Given the description of an element on the screen output the (x, y) to click on. 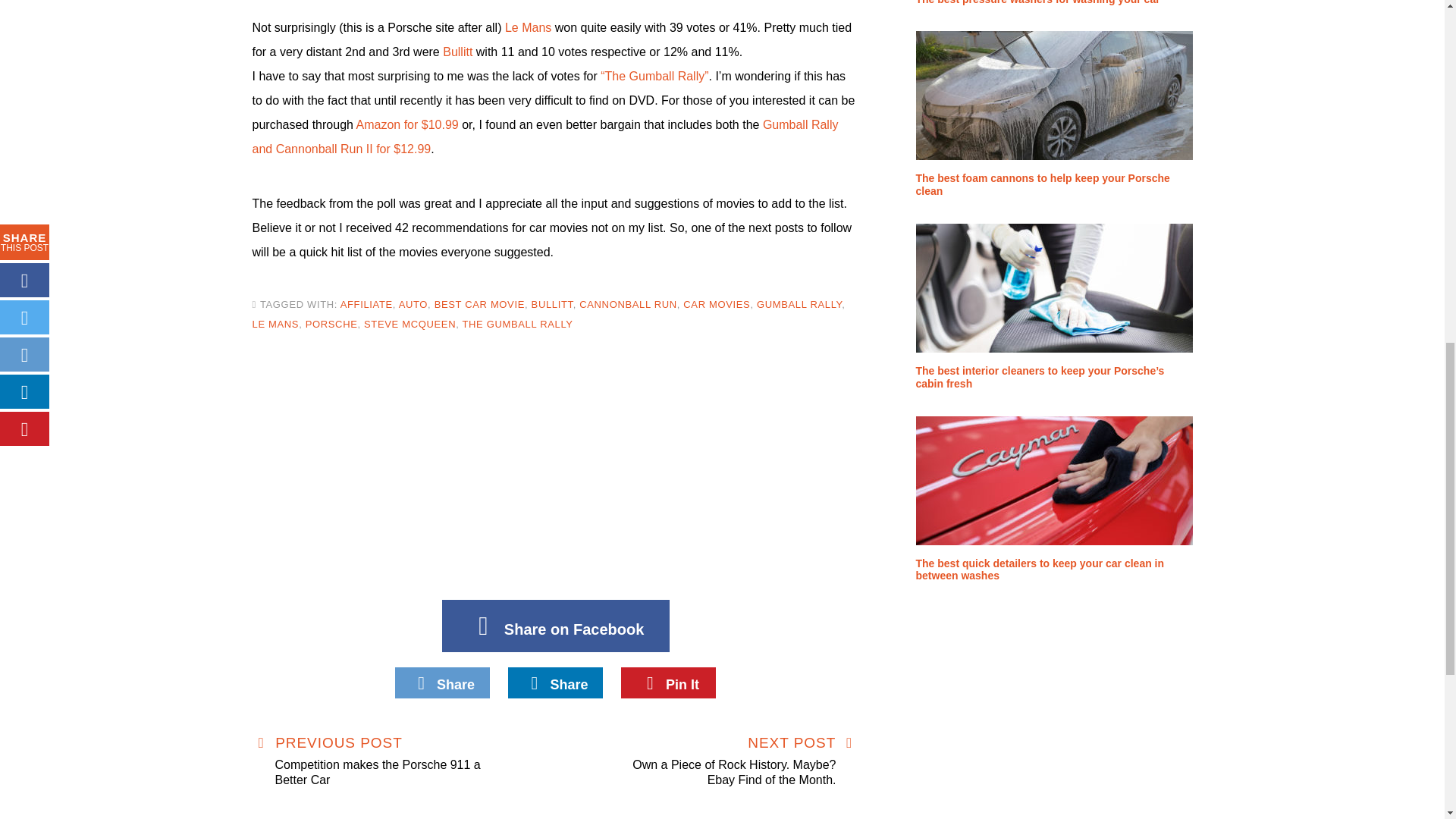
Advertisement (555, 470)
